Given the description of an element on the screen output the (x, y) to click on. 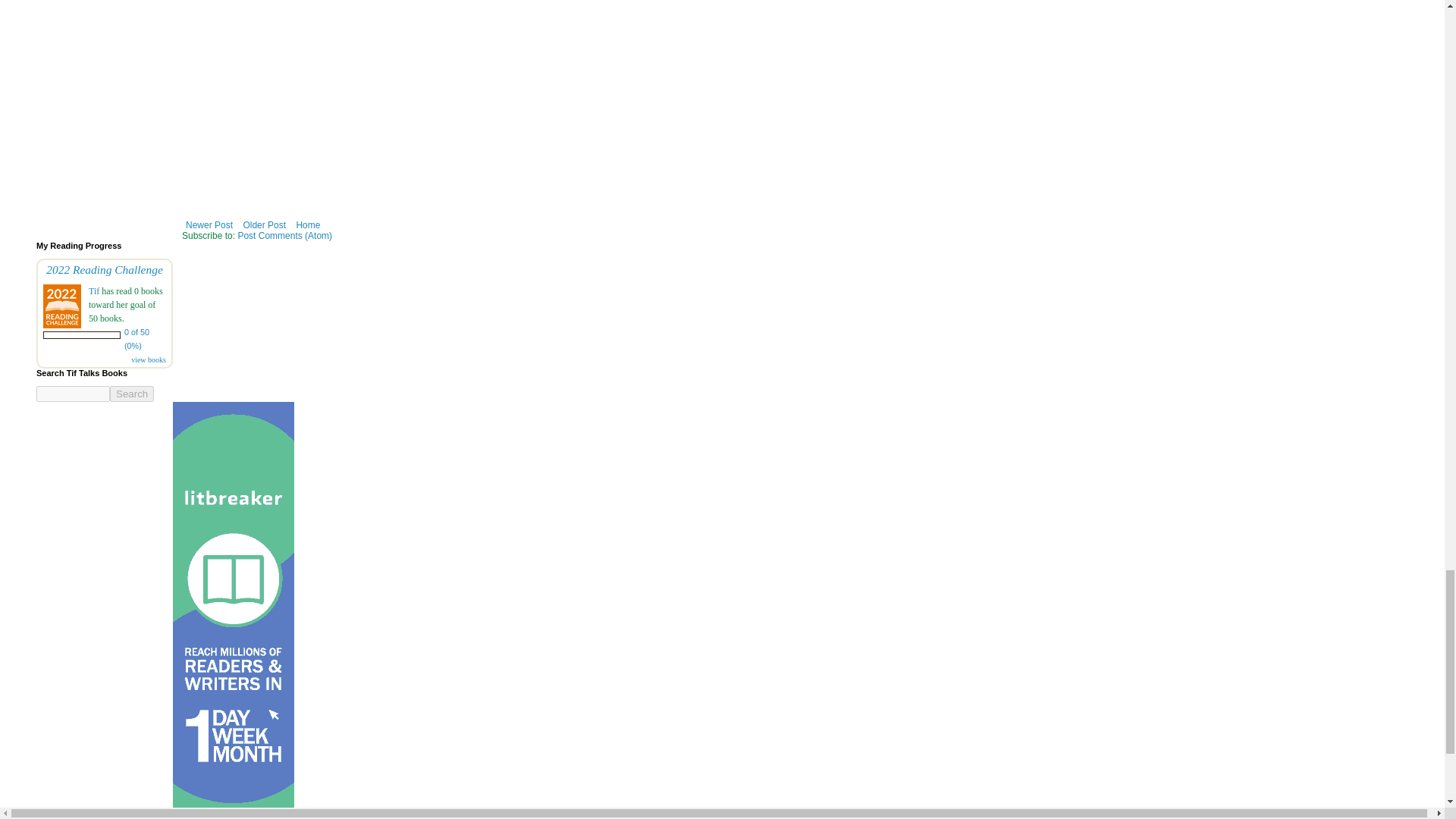
Search (132, 393)
Older Post (263, 225)
search (132, 393)
search (73, 393)
Search (132, 393)
Newer Post (208, 225)
